Given the description of an element on the screen output the (x, y) to click on. 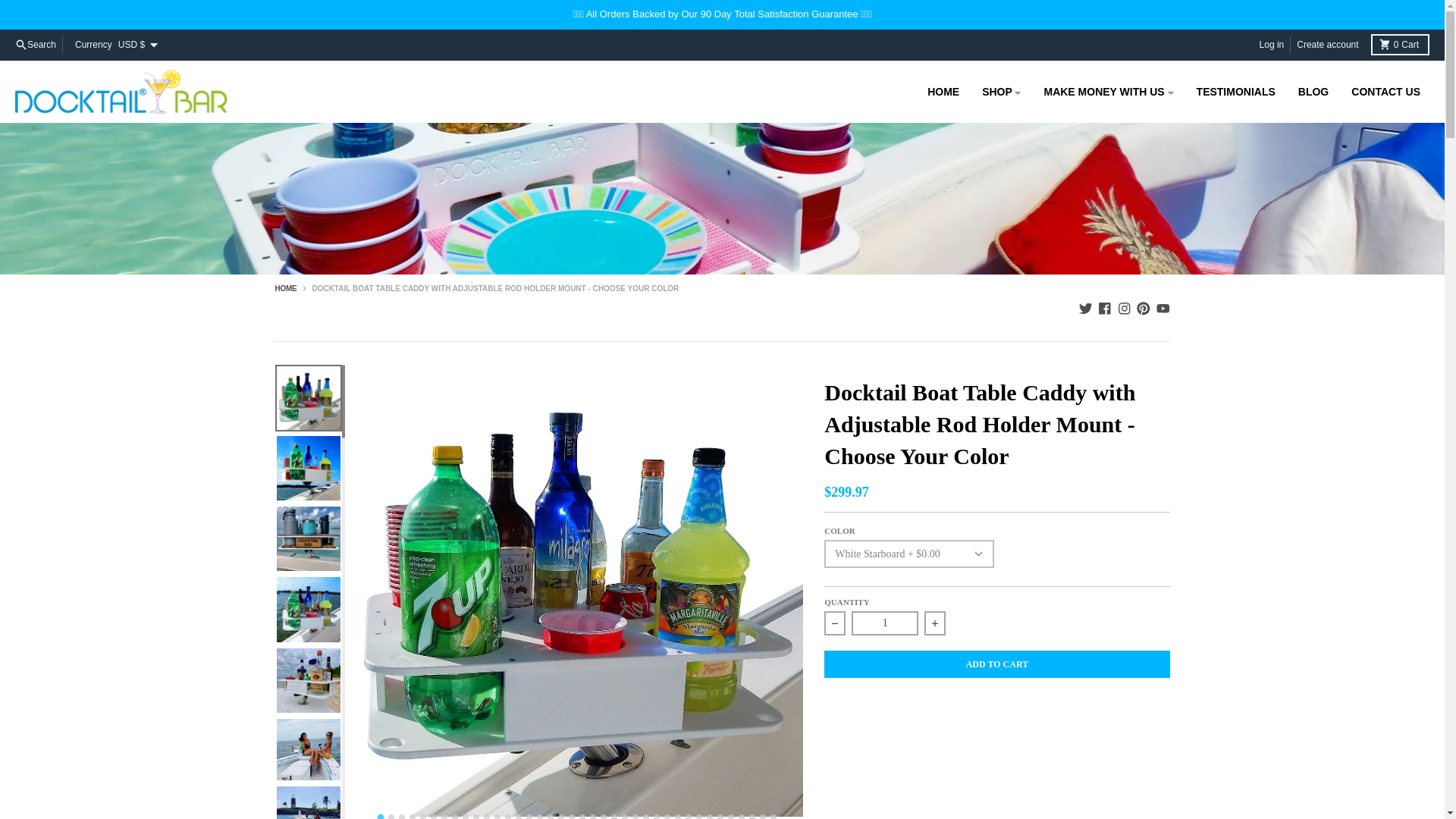
Pinterest - Docktail Bar (1143, 308)
1 (884, 622)
Facebook - Docktail Bar (1104, 308)
Search (35, 45)
Instagram - Docktail Bar (1124, 308)
Create account (1327, 45)
Twitter - Docktail Bar (1400, 44)
Back to the homepage (1085, 308)
HOME (286, 288)
Log in (943, 91)
YouTube - Docktail Bar (1271, 45)
